Given the description of an element on the screen output the (x, y) to click on. 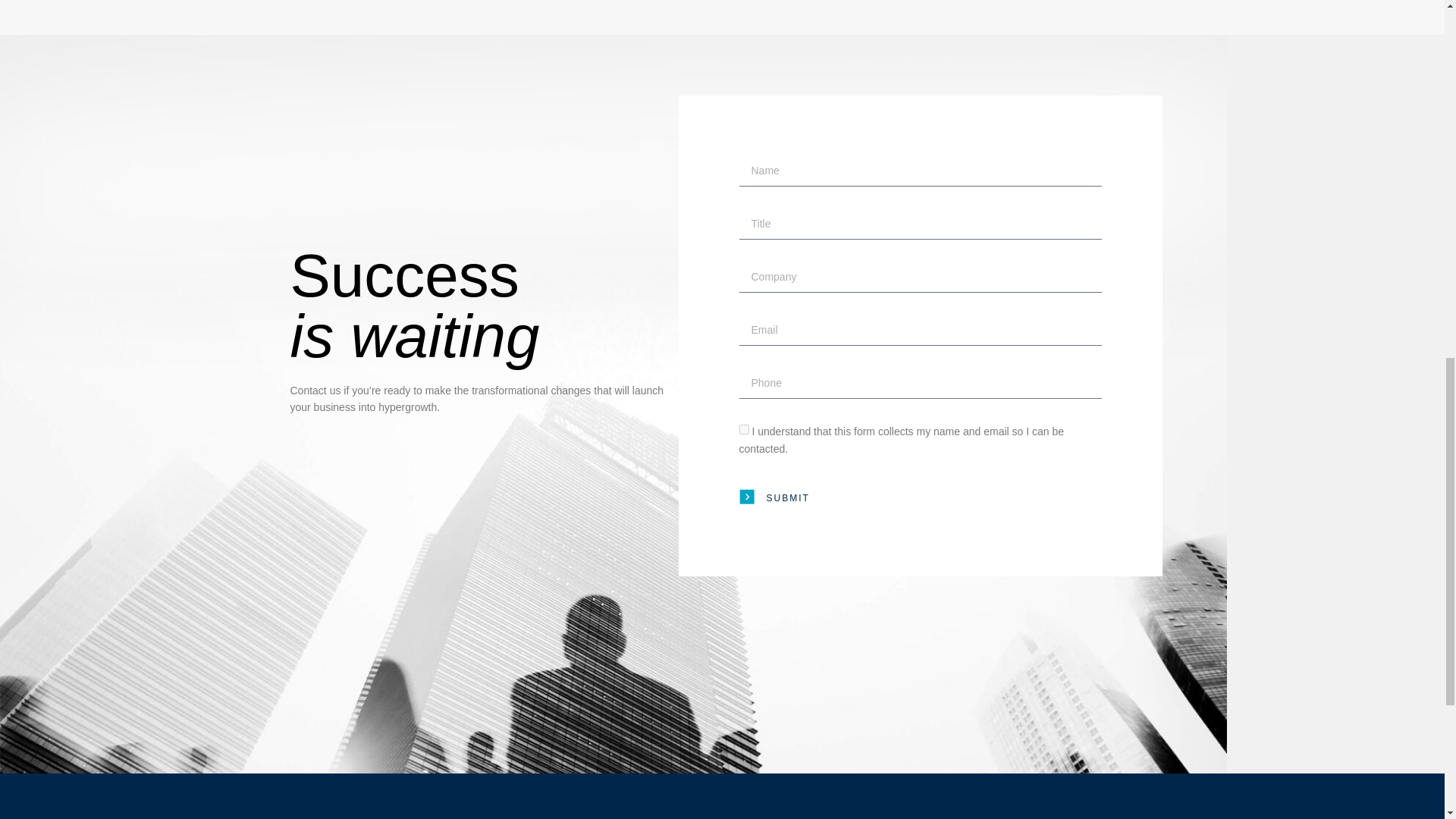
SUBMIT (773, 497)
on (743, 429)
